Given the description of an element on the screen output the (x, y) to click on. 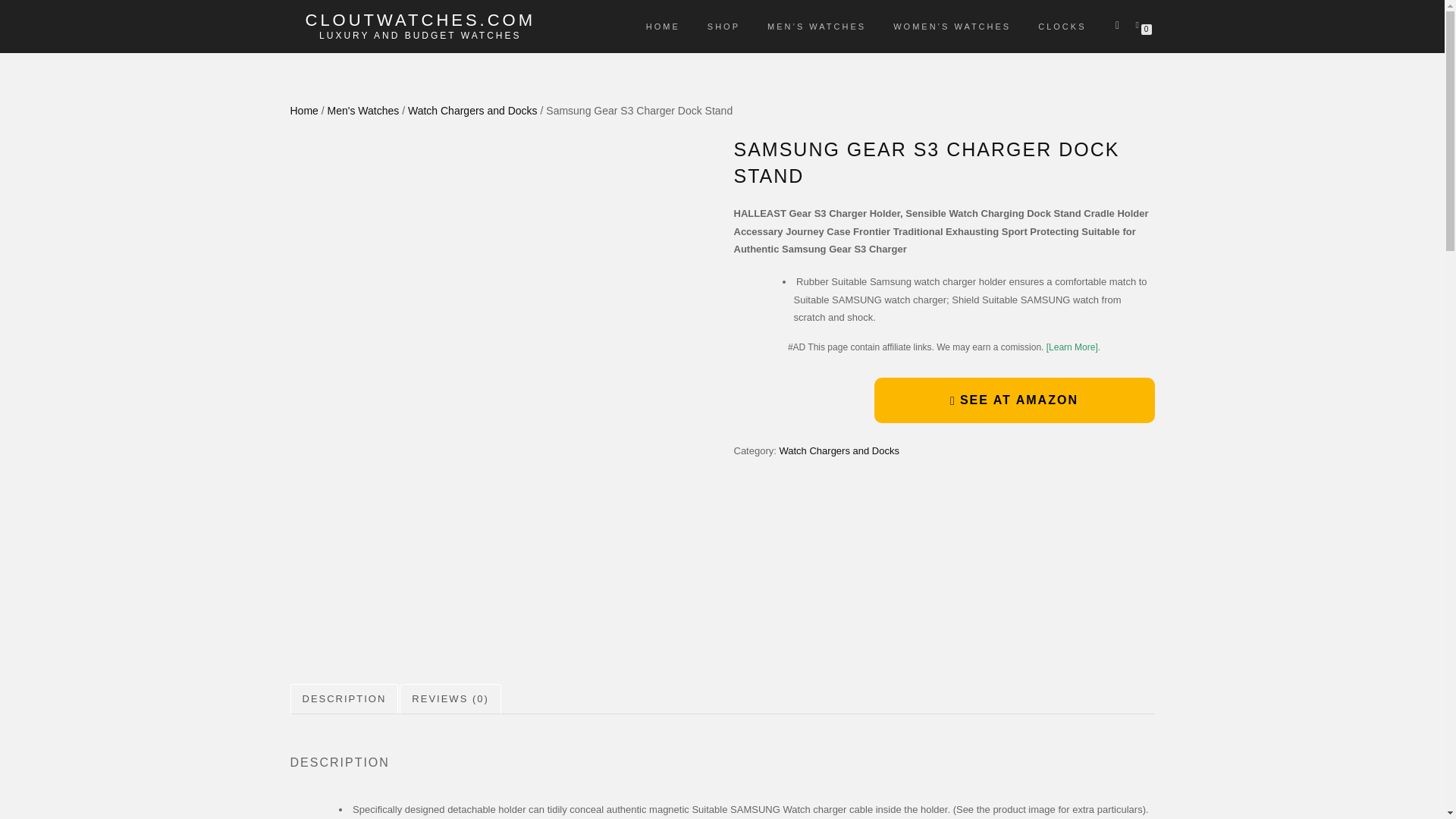
0 (1139, 23)
DESCRIPTION (343, 698)
Watch Chargers and Docks (472, 110)
Home (303, 110)
CloutWatches.com (419, 20)
SHOP (723, 26)
View your shopping cart (1139, 23)
LUXURY AND BUDGET WATCHES (419, 35)
HOME (662, 26)
Men's Watches (362, 110)
Luxury and Budget Watches (419, 35)
Watch Chargers and Docks (838, 450)
SEE AT AMAZON (1013, 400)
CLOCKS (1061, 26)
CLOUTWATCHES.COM (419, 20)
